Given the description of an element on the screen output the (x, y) to click on. 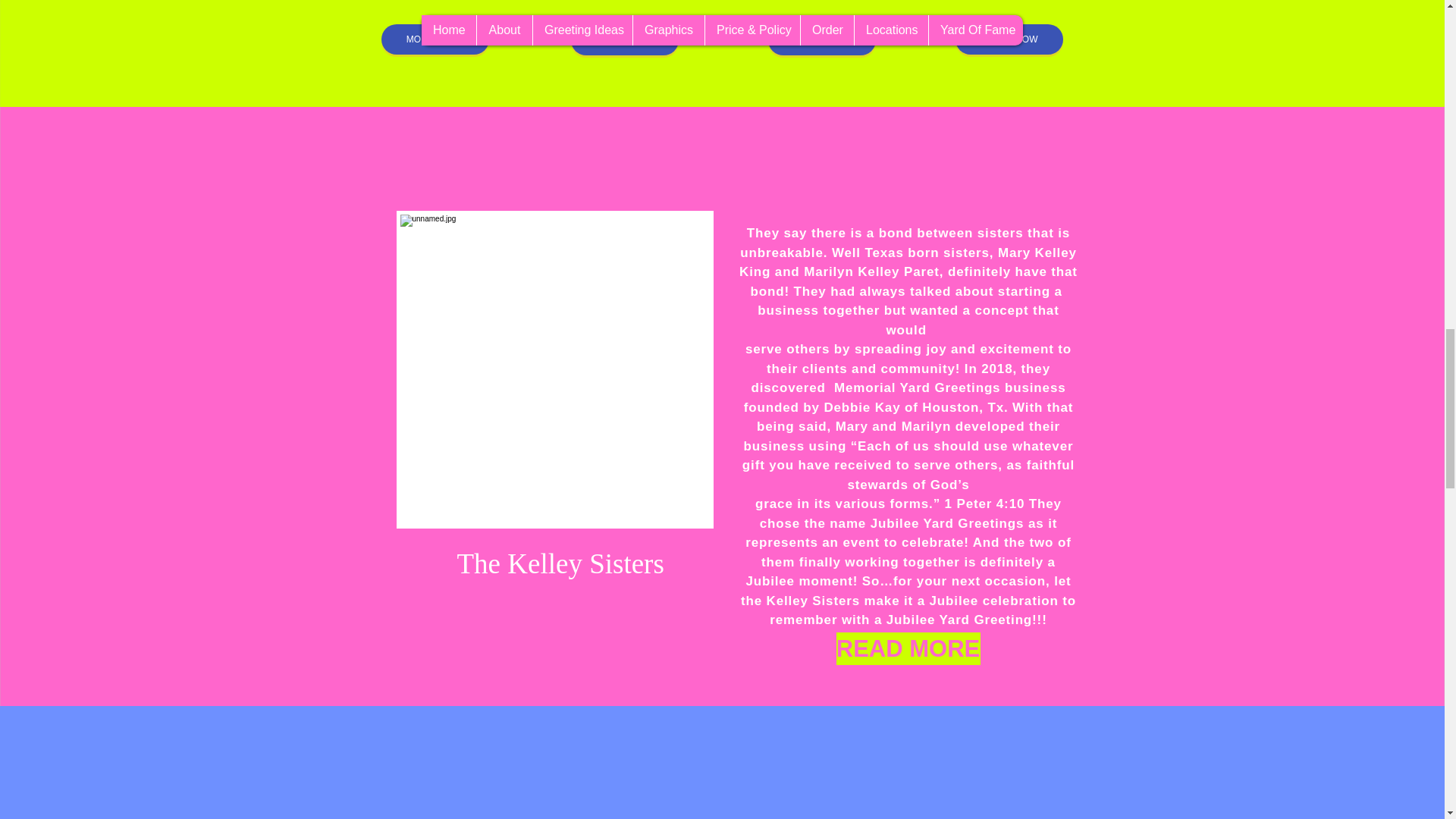
READ MORE (907, 648)
ORDER NOW (1008, 39)
MORE IDEAS (433, 39)
SHOW MORE (624, 40)
MORE INFO (821, 40)
